Given the description of an element on the screen output the (x, y) to click on. 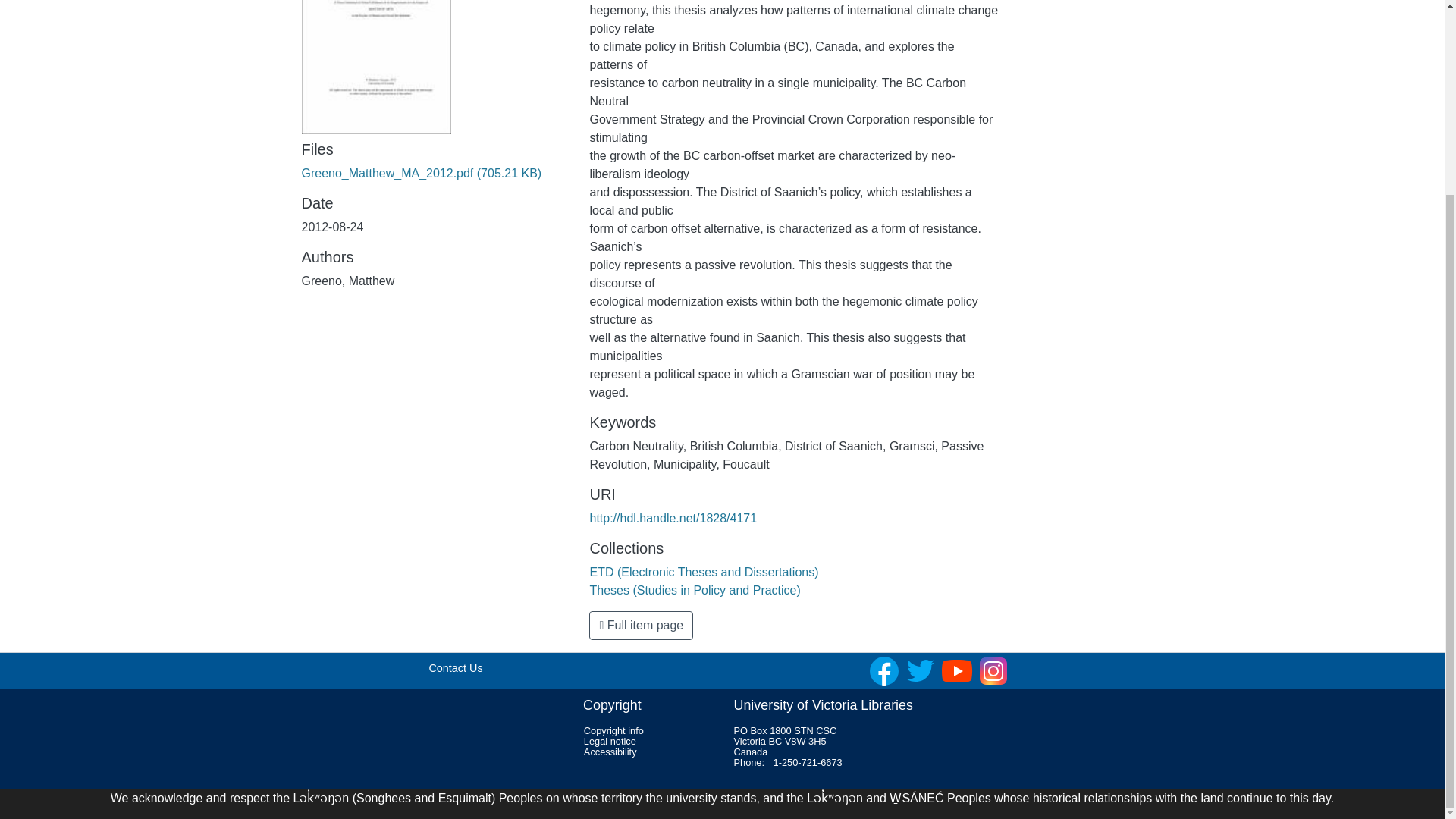
Full item page (641, 624)
Contact Us (454, 667)
